Given the description of an element on the screen output the (x, y) to click on. 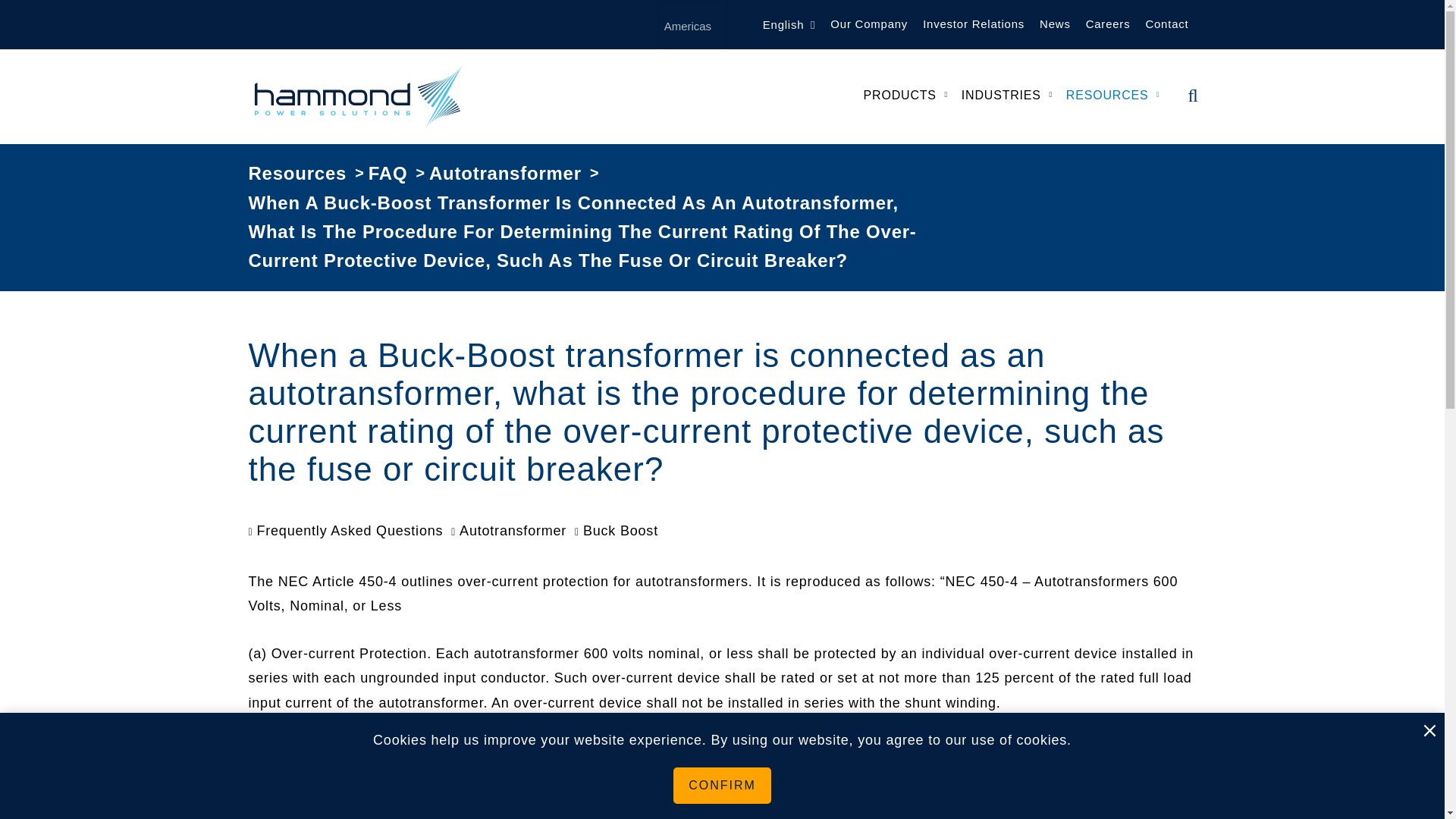
Our Company (868, 24)
News (1055, 24)
Hammond Power Solutions (358, 96)
Investor Relations (973, 24)
Cookie Control Close Icon (1429, 730)
Products (898, 96)
Careers (1108, 24)
PRODUCTS (898, 96)
Contact (1166, 24)
English (779, 24)
